Given the description of an element on the screen output the (x, y) to click on. 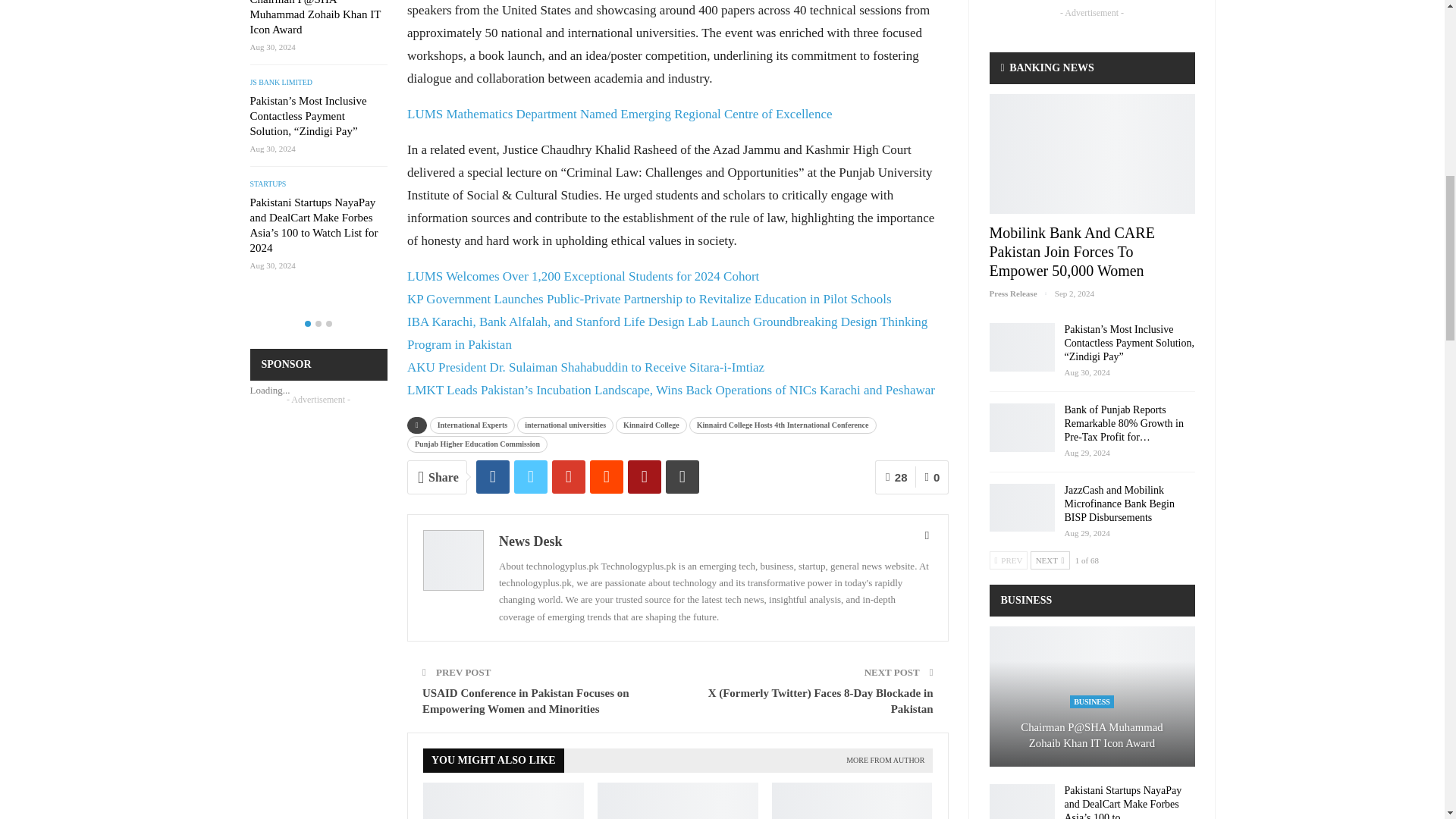
Notable quotes by Quaid-e-Azam Muhammad Ali Jinnah (503, 800)
